Given the description of an element on the screen output the (x, y) to click on. 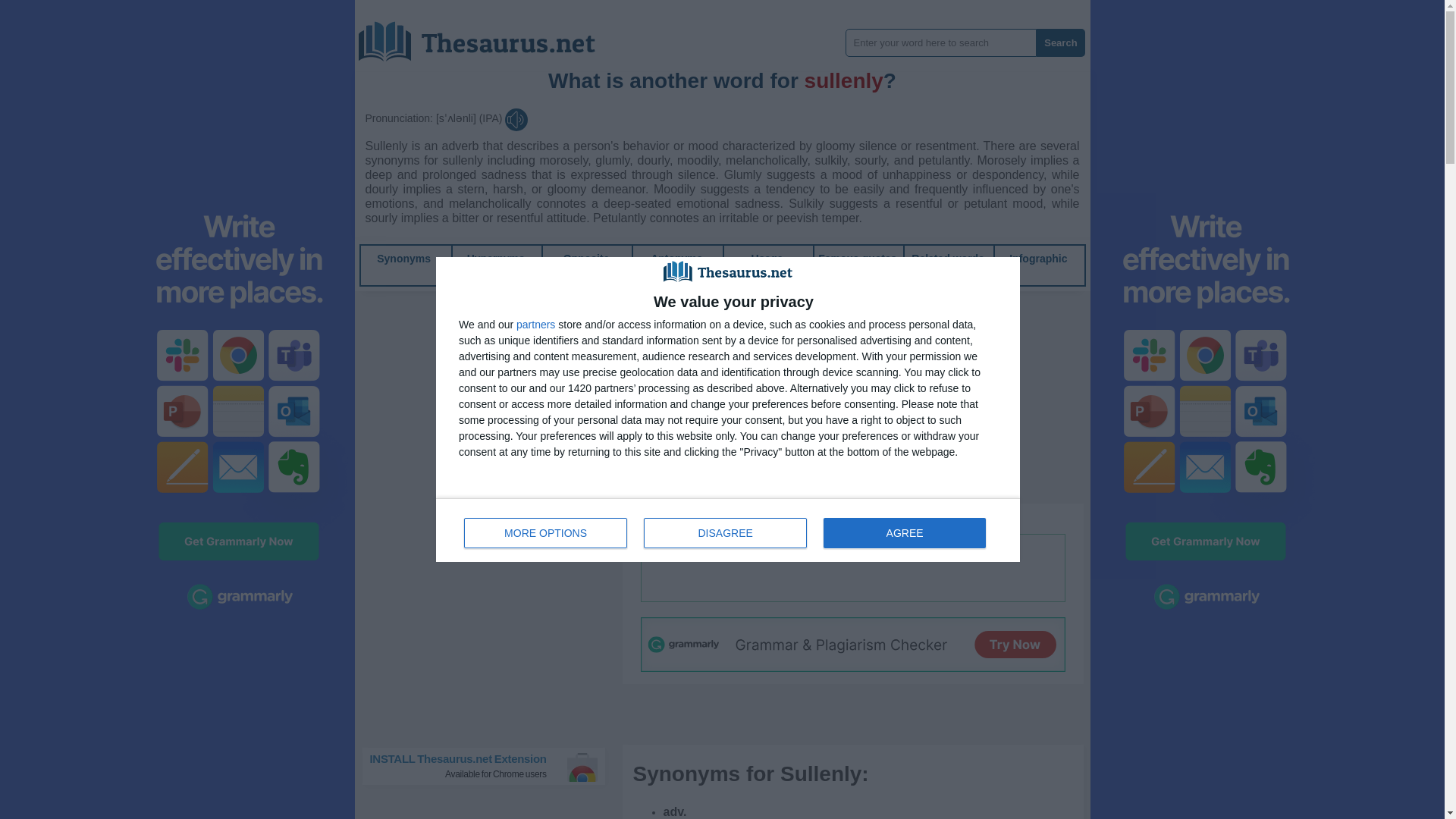
MORE OPTIONS (545, 532)
Antonyms (675, 258)
Search (1060, 42)
Usage examples (767, 265)
Synonyms (489, 765)
Antonyms (403, 258)
Infographic (675, 258)
Thesaurus.net (1038, 258)
Famous quotes (487, 35)
